Given the description of an element on the screen output the (x, y) to click on. 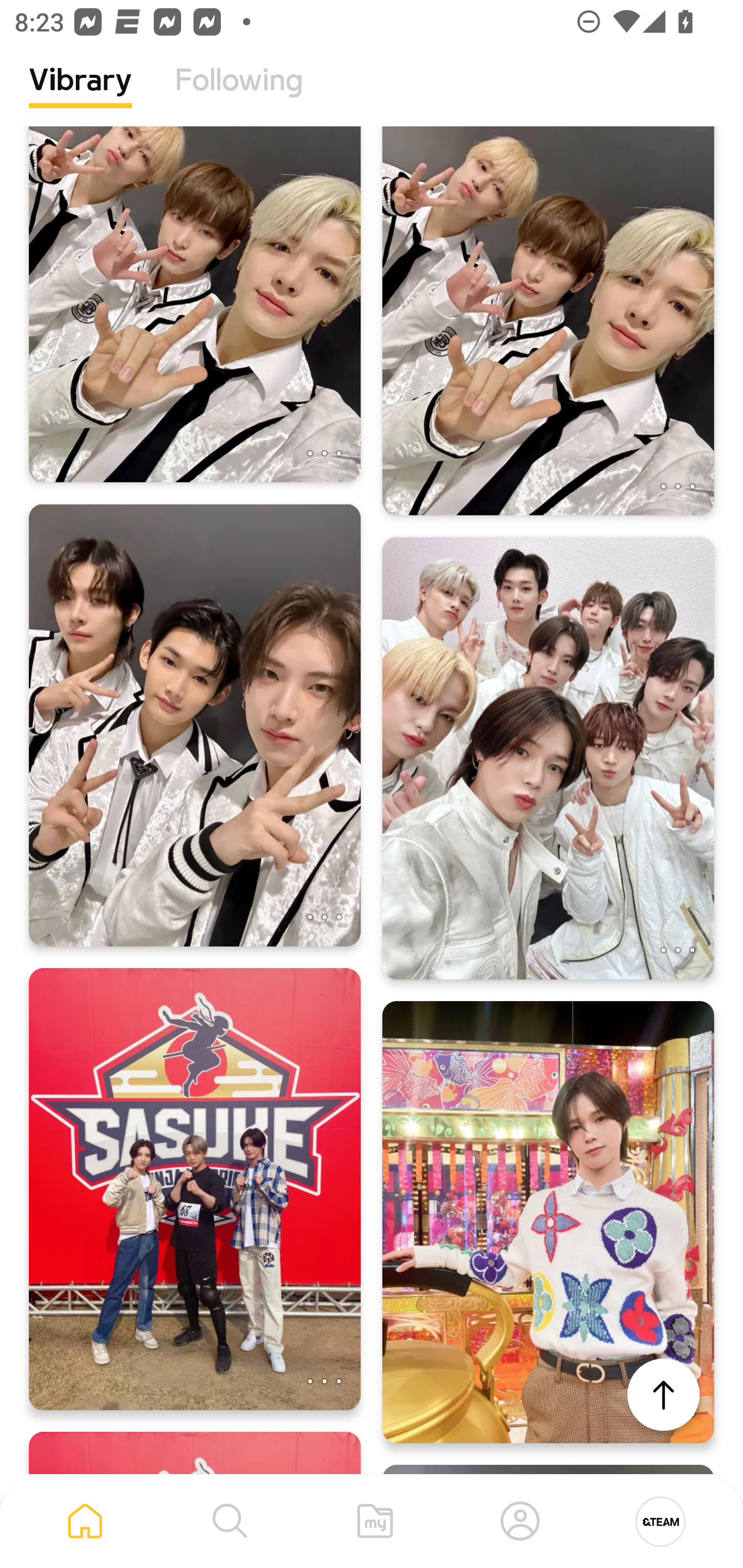
Vibrary (80, 95)
Following (239, 95)
